Given the description of an element on the screen output the (x, y) to click on. 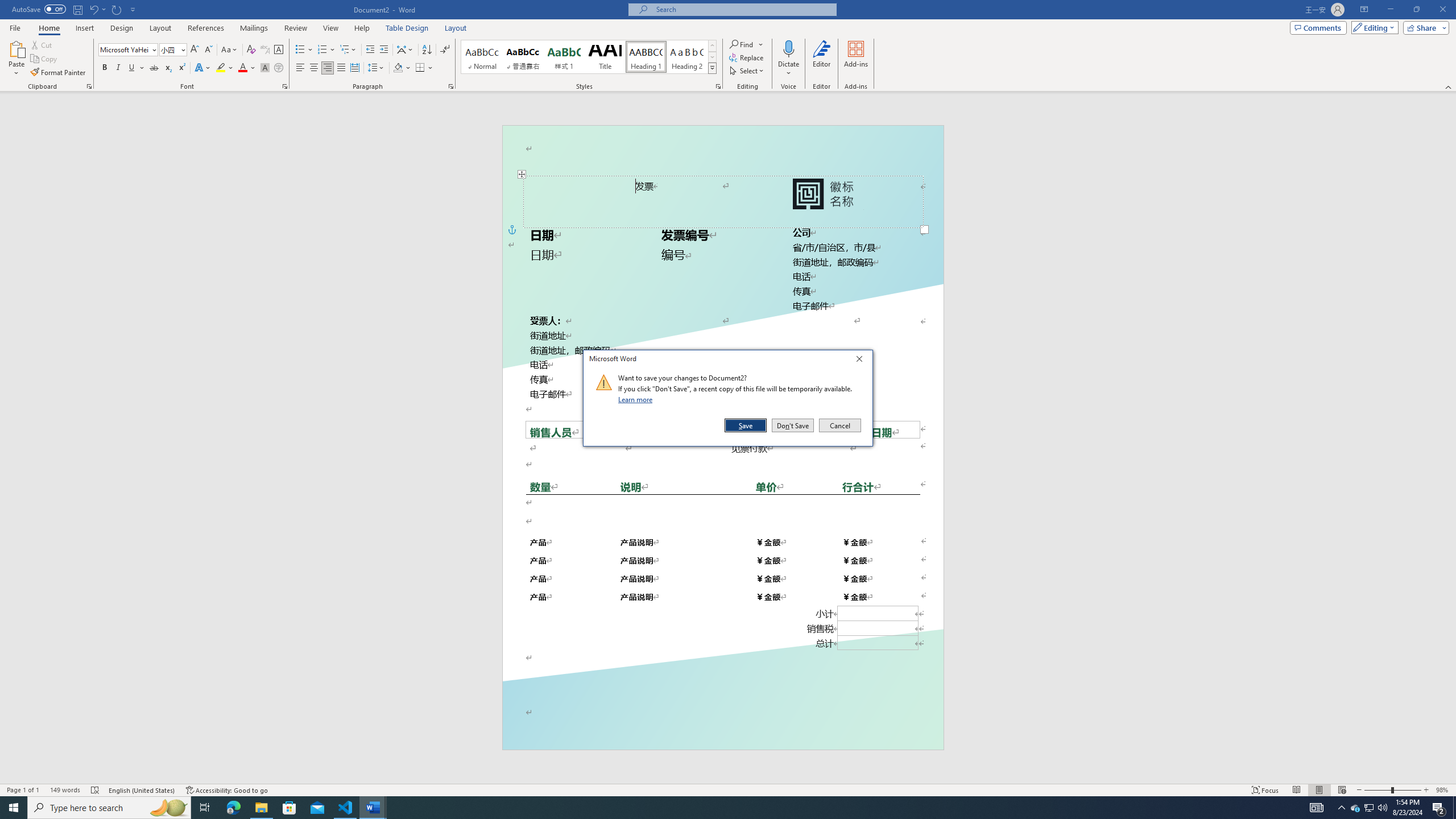
Repeat Style (117, 9)
